Given the description of an element on the screen output the (x, y) to click on. 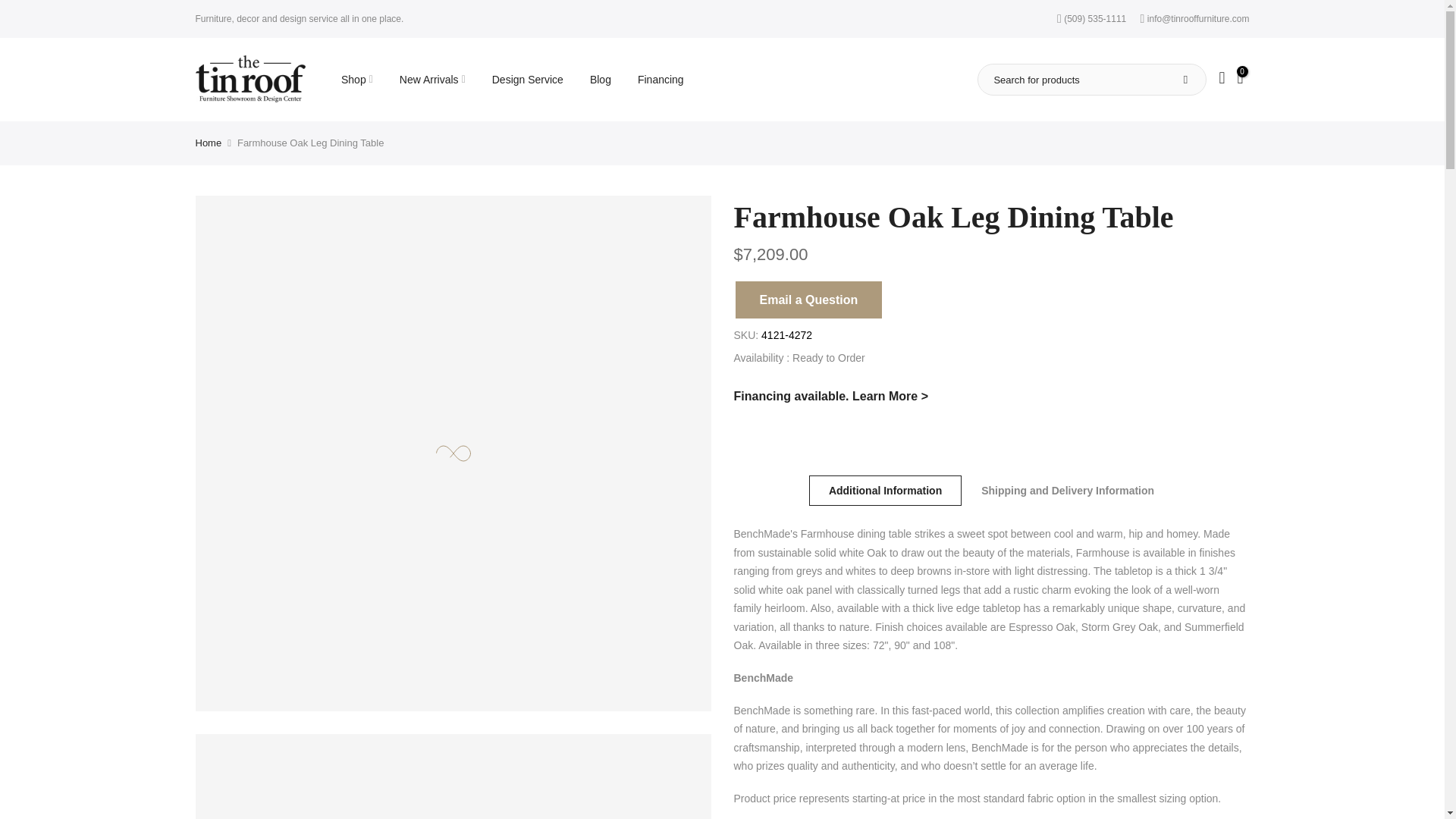
Additional Information (884, 490)
0 (1239, 79)
Design Service (527, 79)
Financing (830, 395)
Shipping and Delivery Information (1066, 490)
Home (208, 142)
New Arrivals (432, 79)
